Given the description of an element on the screen output the (x, y) to click on. 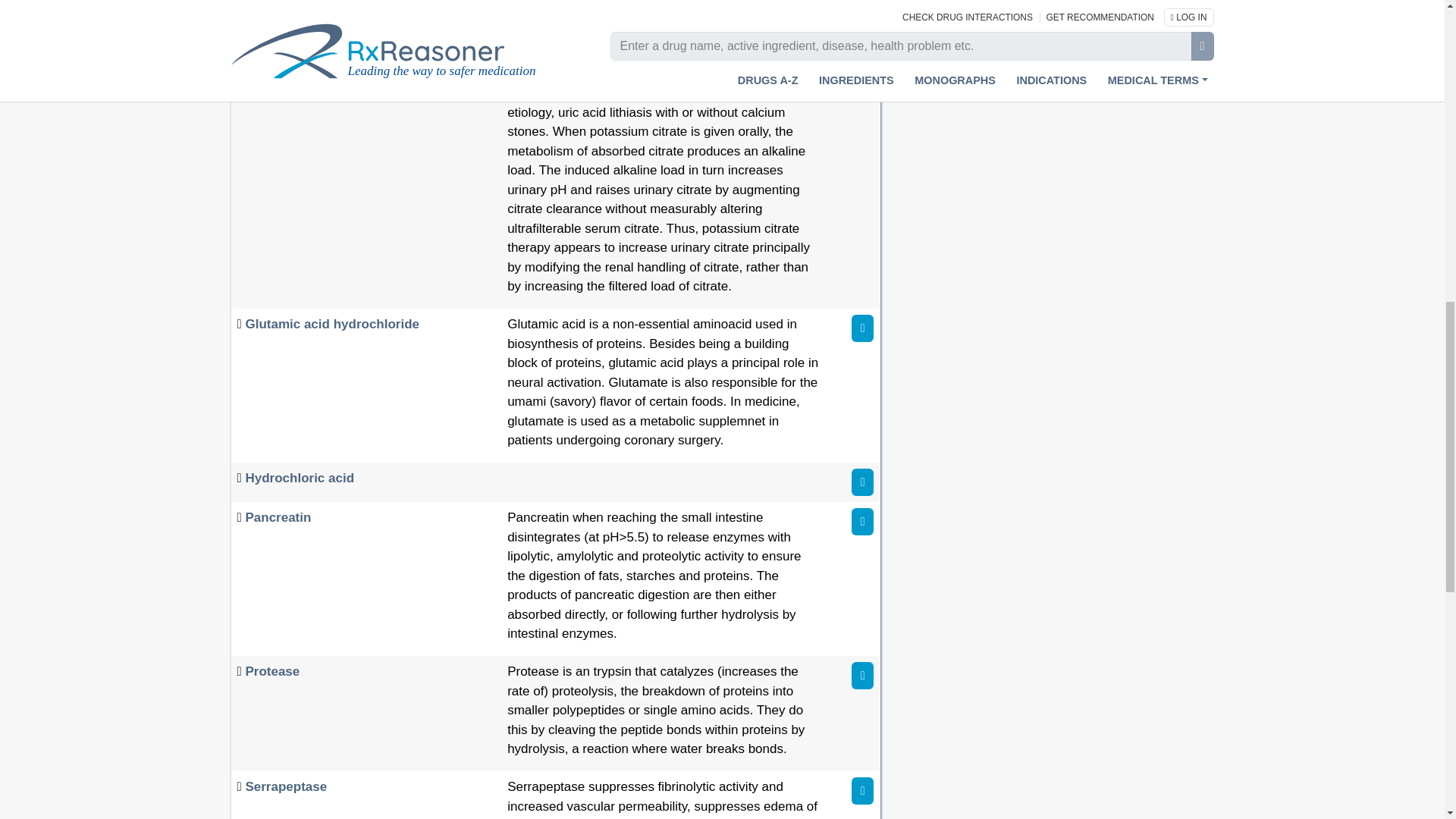
Serrapeptase (285, 786)
Citric acid (275, 53)
Pancreatin (277, 517)
Protease (271, 671)
Hydrochloric acid (298, 477)
Glutamic acid hydrochloride (331, 323)
